Given the description of an element on the screen output the (x, y) to click on. 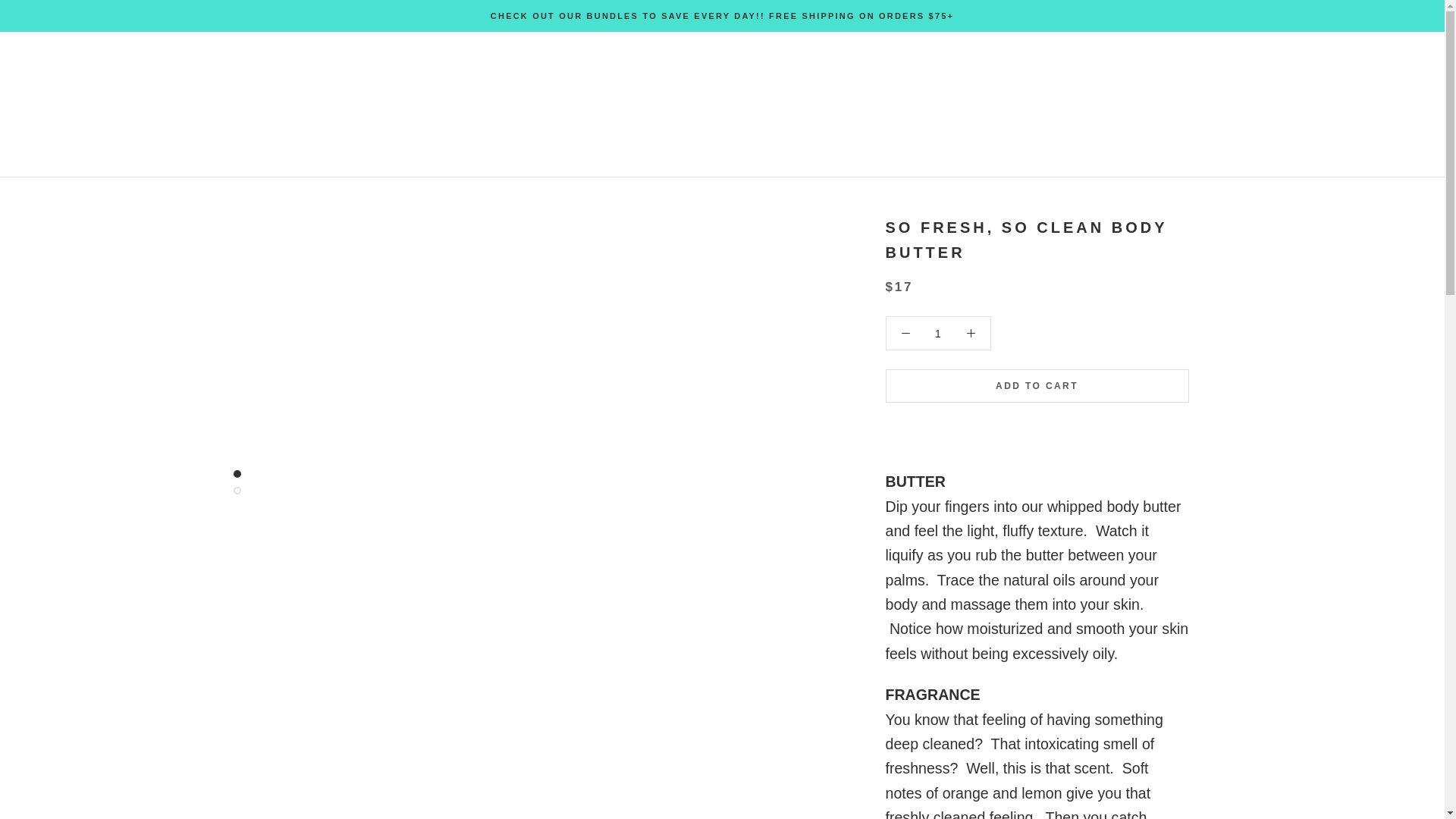
1 (938, 333)
